Given the description of an element on the screen output the (x, y) to click on. 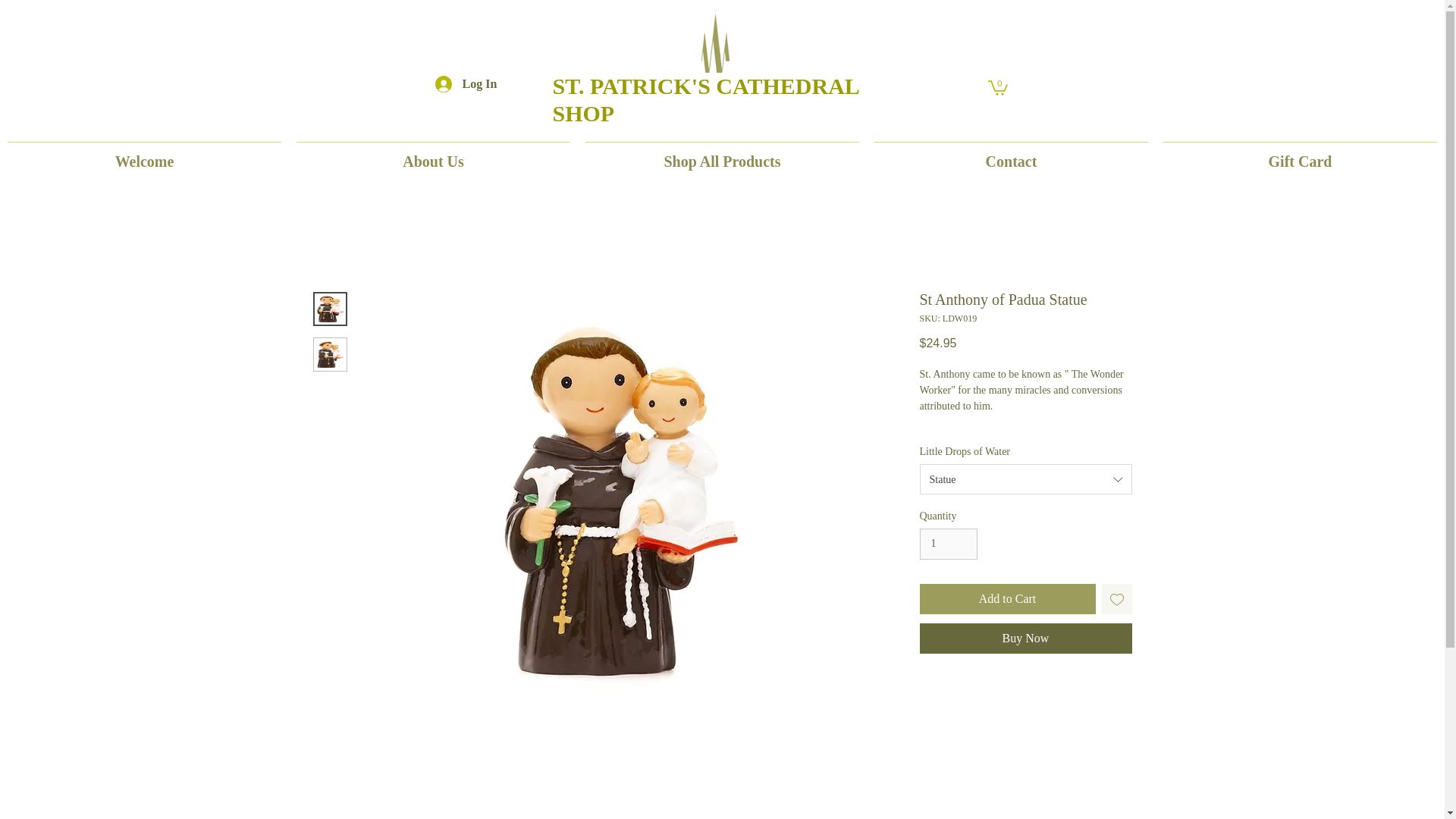
ST. PATRICK'S CATHEDRAL SHOP (705, 99)
Buy Now (1024, 638)
Contact (1011, 154)
Shop All Products (722, 154)
0 (997, 86)
Log In (454, 84)
Add to Cart (1006, 598)
1 (947, 543)
0 (997, 86)
About Us (433, 154)
